Given the description of an element on the screen output the (x, y) to click on. 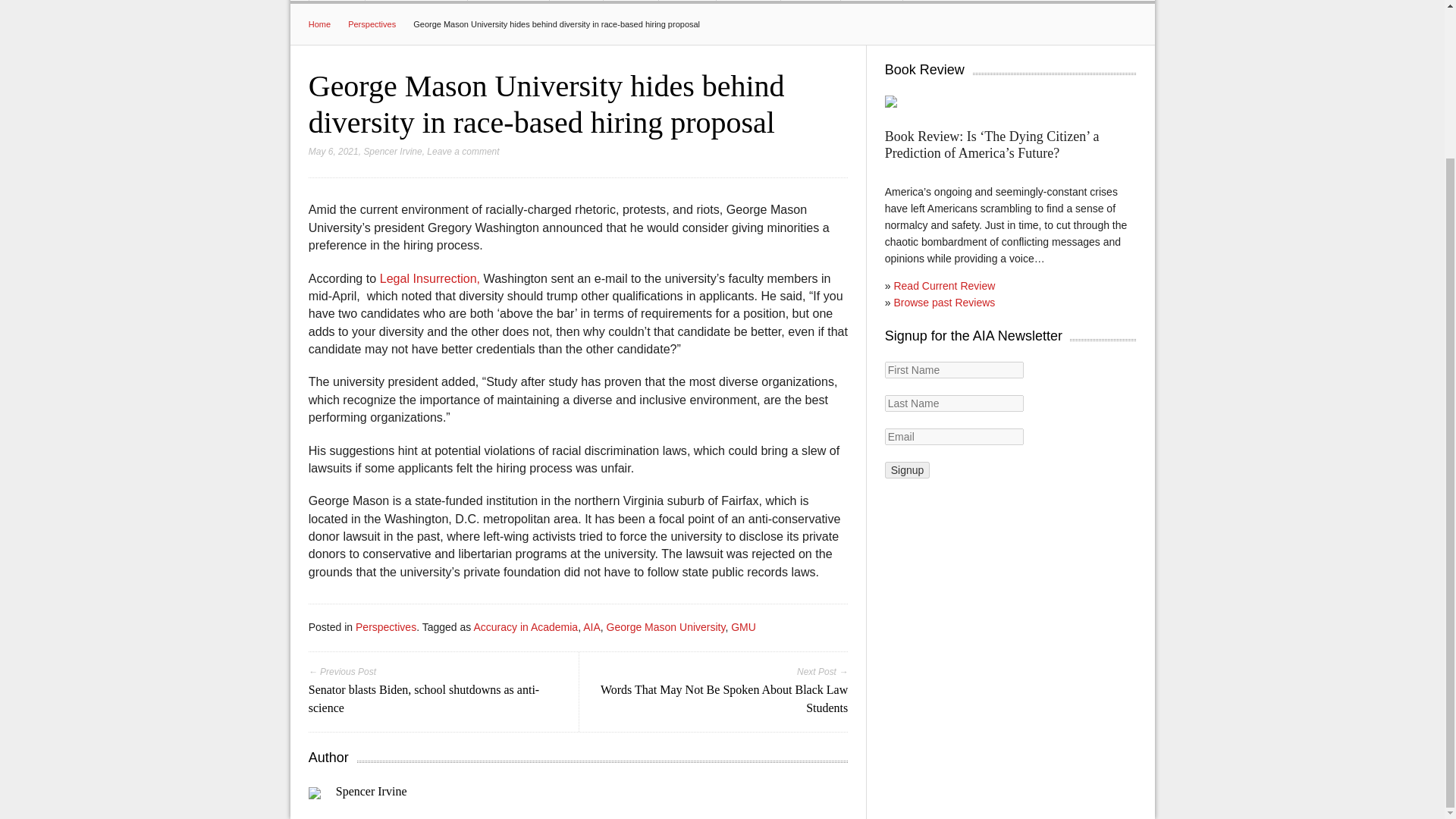
Home (336, 0)
Bias Watch (507, 0)
AIA (591, 626)
George Mason University (666, 626)
Leave a comment (462, 151)
Donate (871, 0)
Read Current Review (943, 285)
Campus Report (416, 0)
Interns (810, 0)
Contact (748, 0)
Browse past Reviews (943, 302)
About (686, 0)
Video (631, 0)
Perspectives (385, 626)
Signup (907, 469)
